Given the description of an element on the screen output the (x, y) to click on. 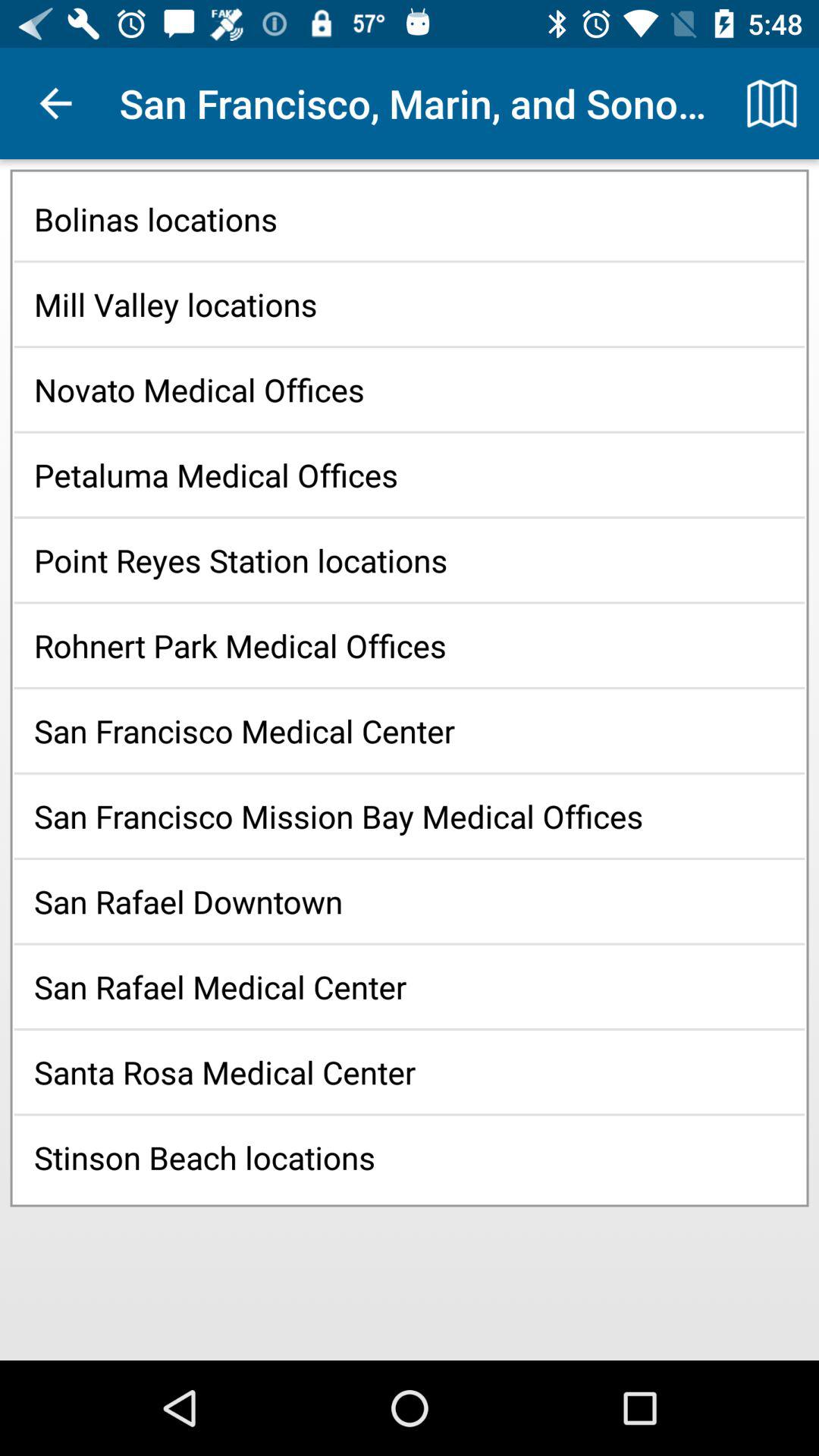
select icon next to the san francisco marin app (55, 103)
